Given the description of an element on the screen output the (x, y) to click on. 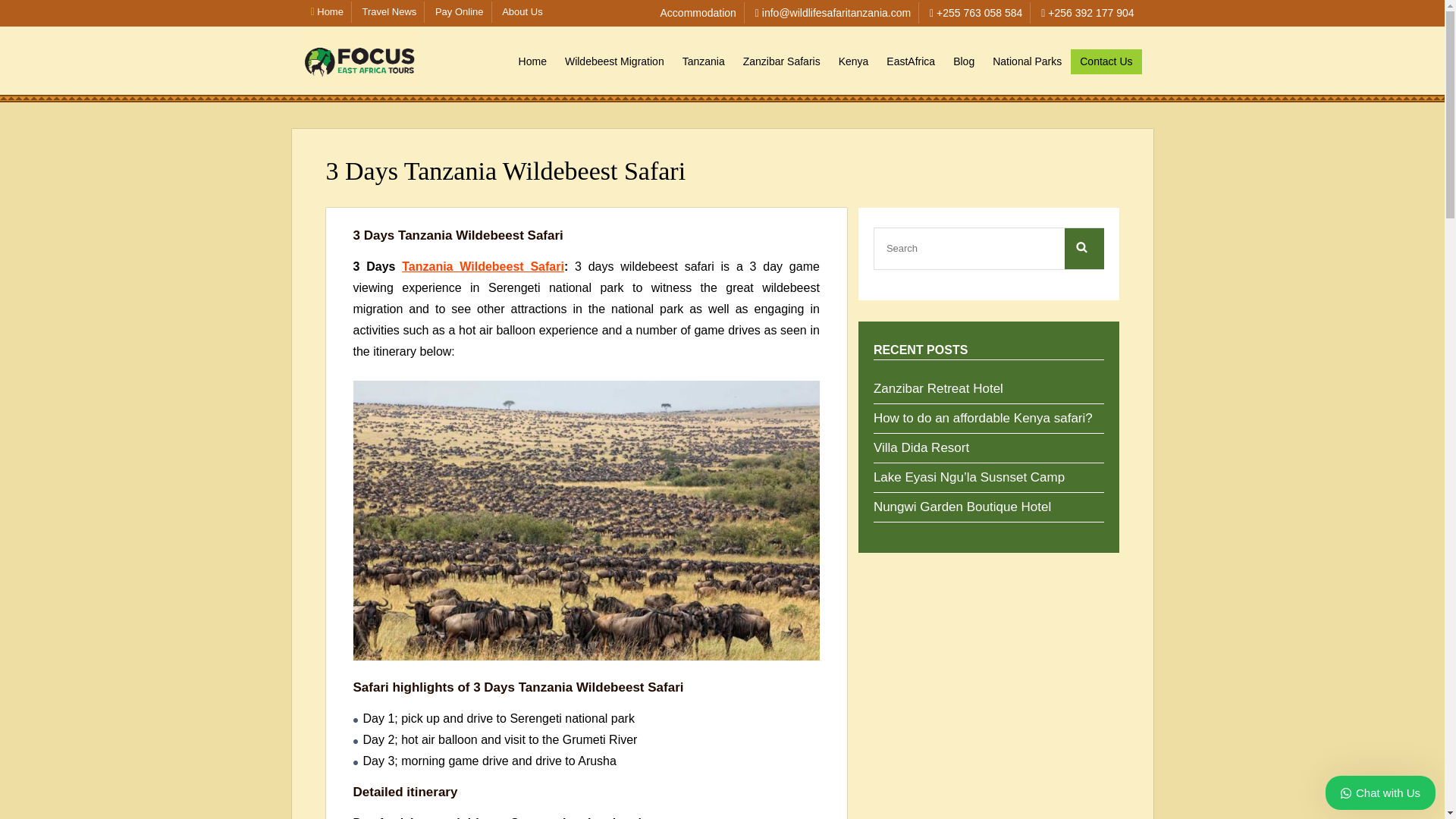
Zanzibar Retreat Hotel (938, 387)
Search for: (958, 248)
About Us (521, 11)
Home (532, 61)
Search (1083, 248)
How to do an affordable Kenya safari? (983, 416)
Blog (963, 61)
Tanzania Wildebeest Safari (482, 266)
Home (327, 11)
Zanzibar Safaris (781, 61)
